Given the description of an element on the screen output the (x, y) to click on. 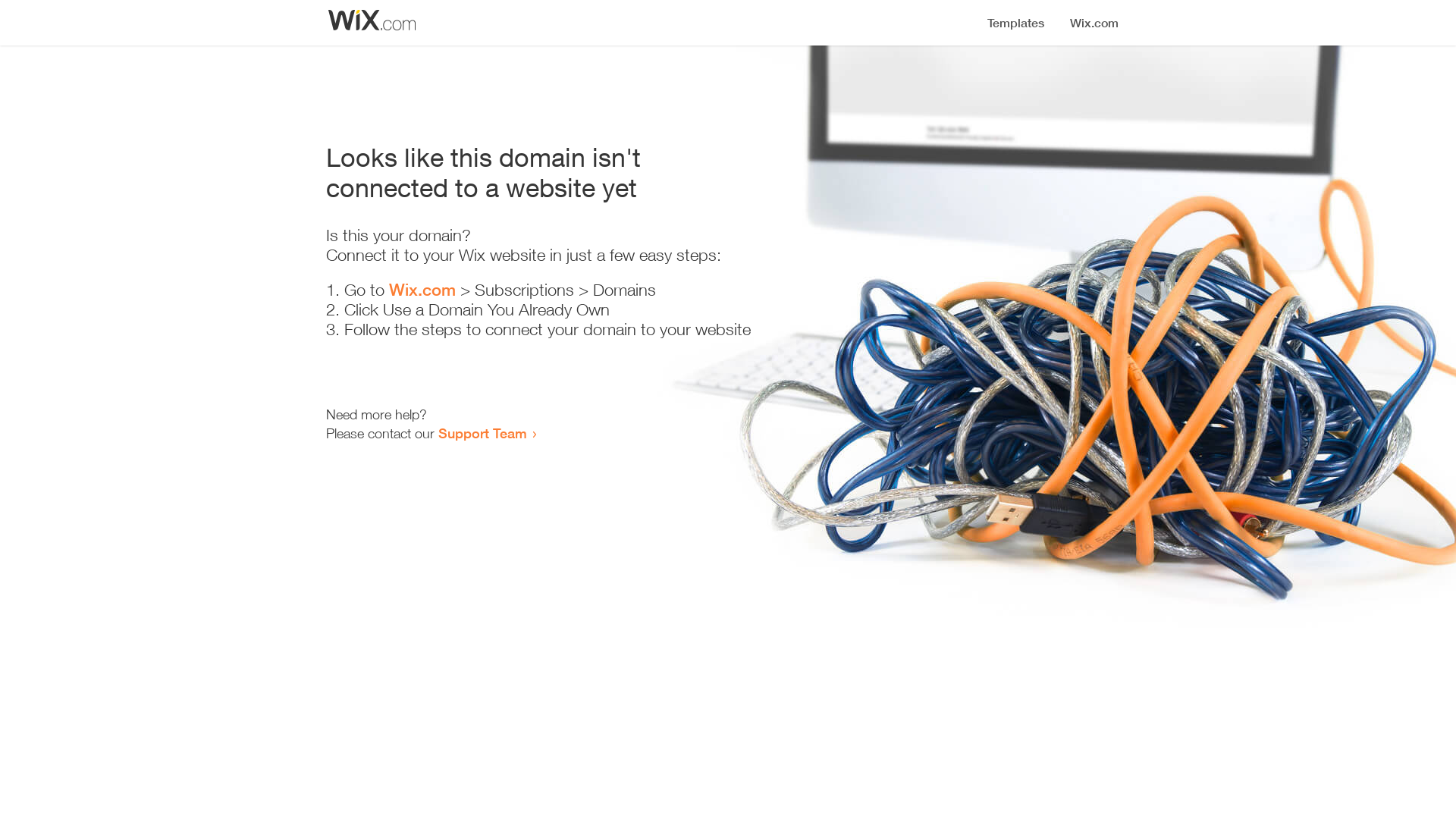
Support Team Element type: text (482, 432)
Wix.com Element type: text (422, 289)
